Given the description of an element on the screen output the (x, y) to click on. 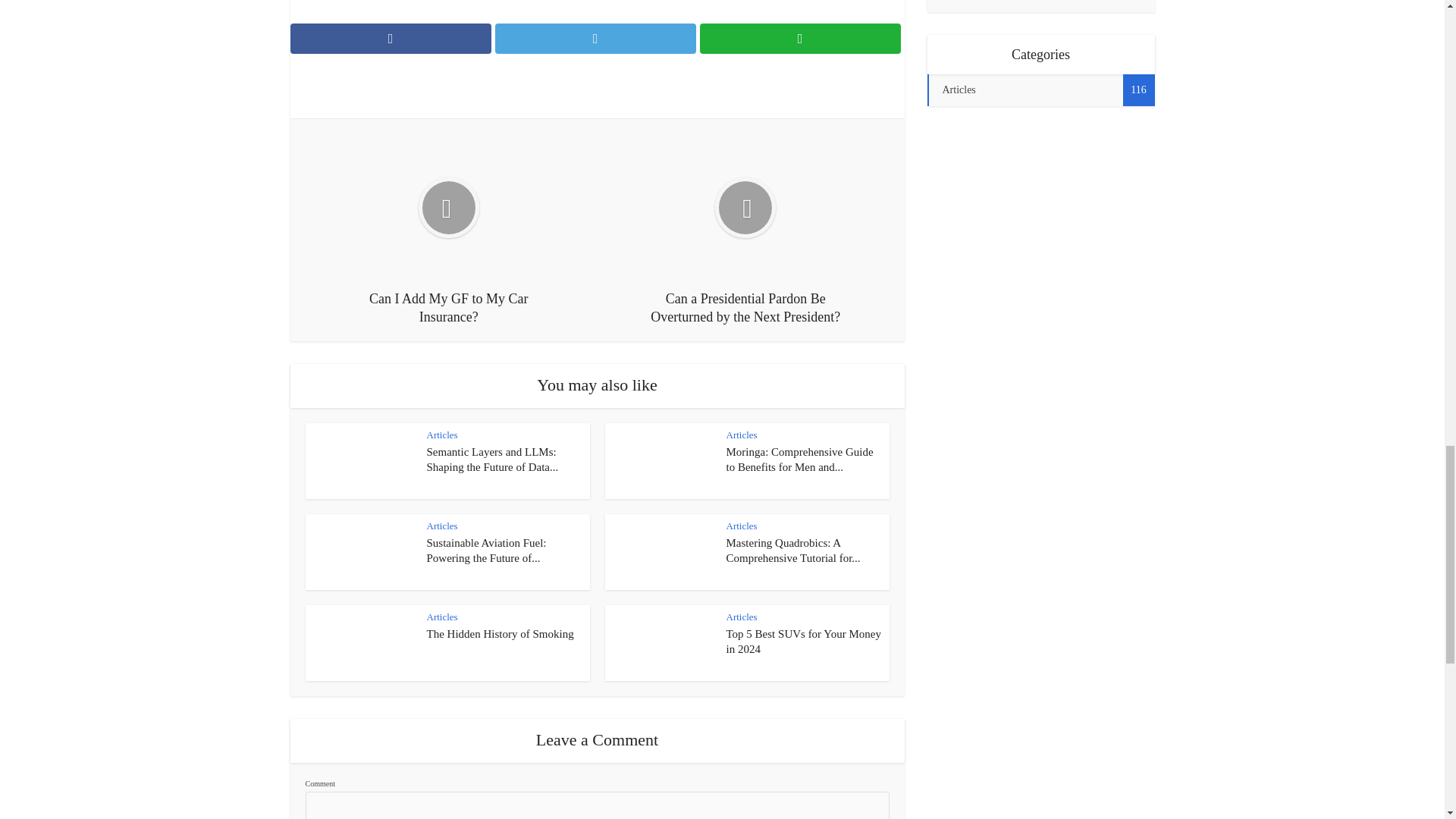
Articles (441, 434)
Sustainable Aviation Fuel: Powering the Future of... (486, 550)
Articles (741, 434)
Can I Add My GF to My Car Insurance? (449, 229)
Articles (741, 525)
Moringa: Comprehensive Guide to Benefits for Men and... (799, 459)
Articles (441, 616)
Mastering Quadrobics: A Comprehensive Tutorial for... (793, 550)
